Given the description of an element on the screen output the (x, y) to click on. 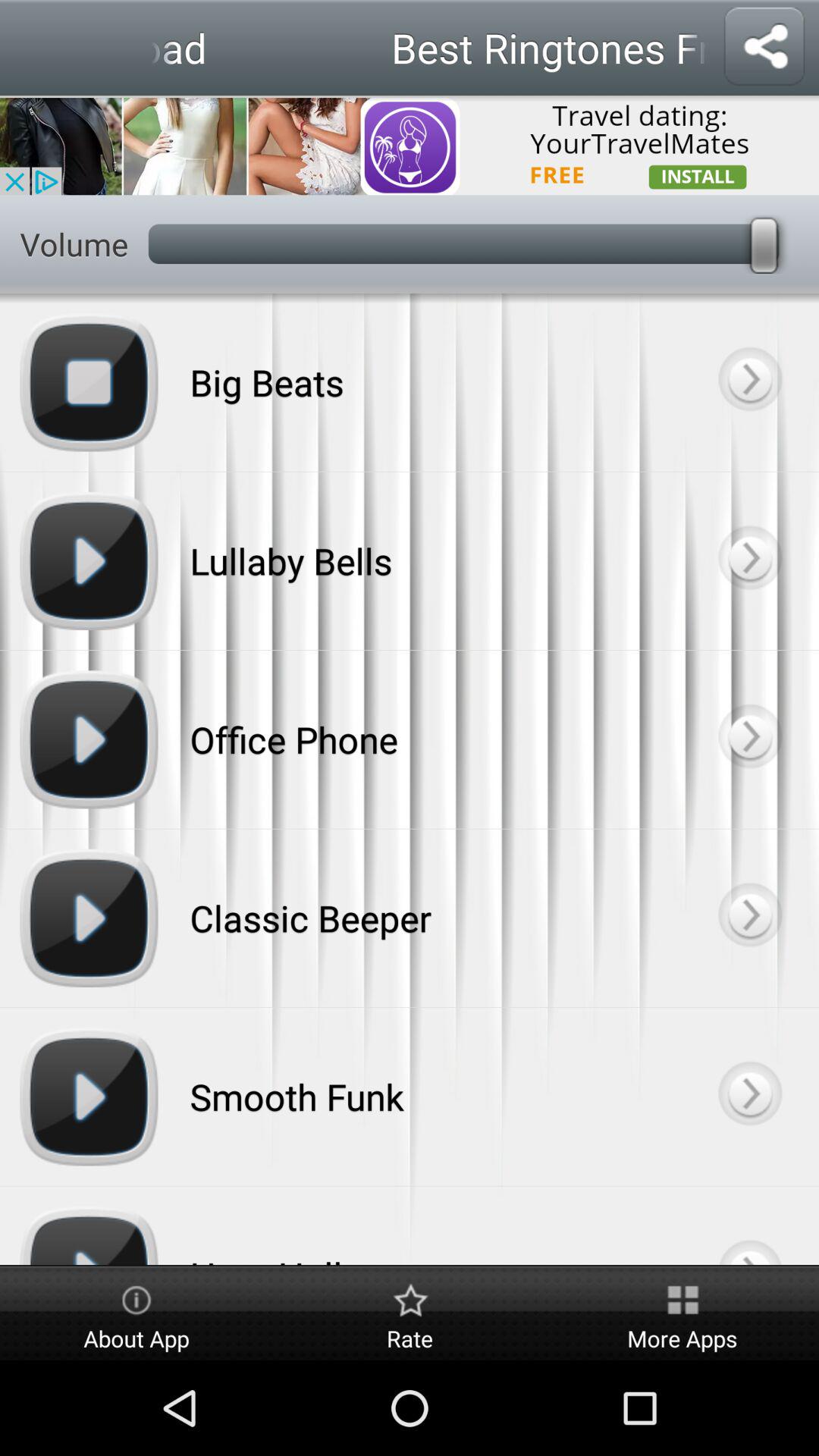
big beat options (749, 382)
